Given the description of an element on the screen output the (x, y) to click on. 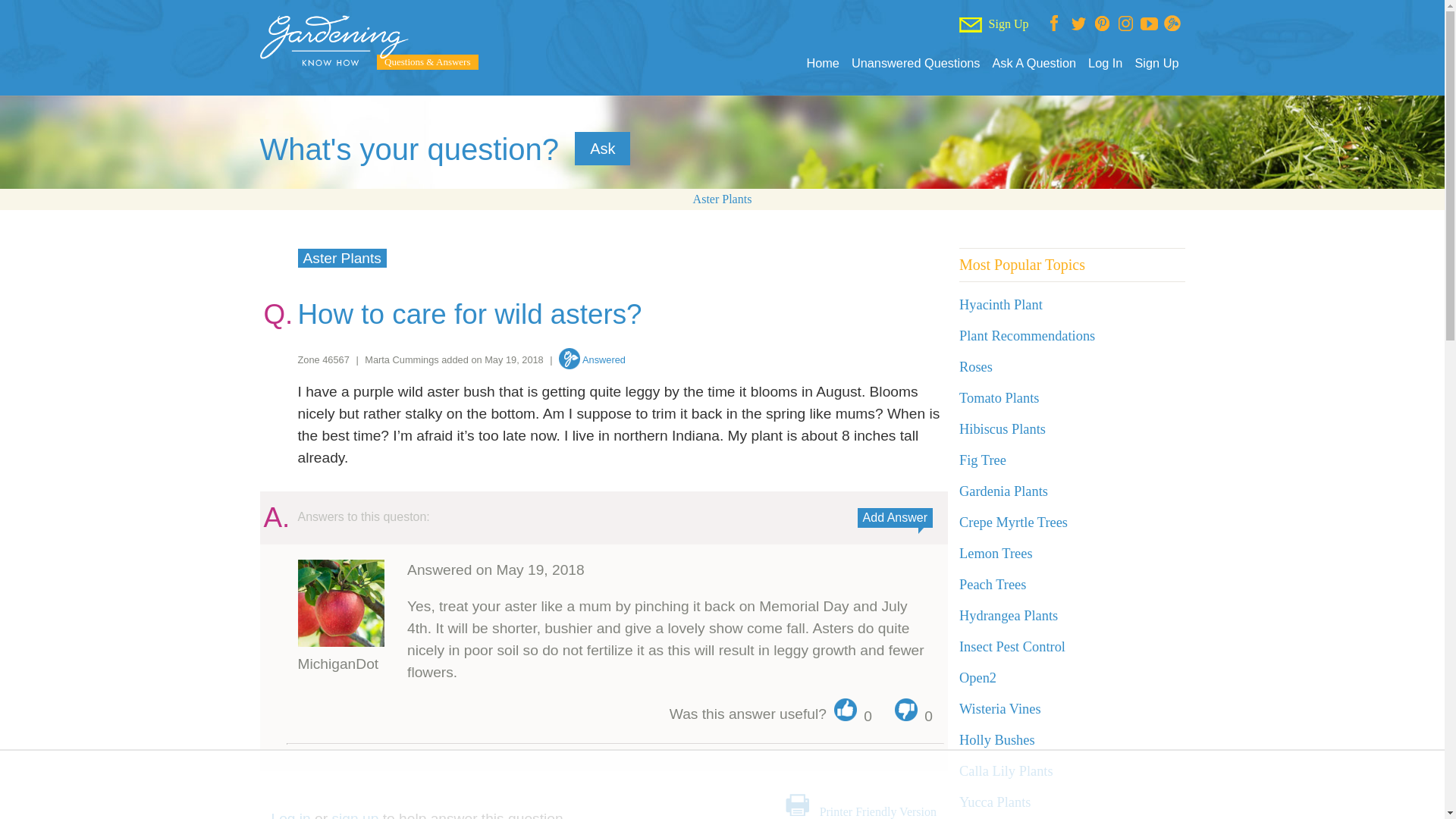
Ask (602, 148)
Printer Friendly Version (877, 811)
Gardenia Plants (1003, 491)
Hydrangea Plants (1008, 615)
Crepe Myrtle Trees (1013, 522)
Roses (975, 366)
Answered (592, 359)
Tomato Plants (999, 397)
Sign Up (1156, 62)
Peach Trees (992, 584)
Lemon Trees (995, 553)
Home (822, 62)
Printer Friendly Version (877, 811)
Aster Plants (341, 257)
Hydrangea Plants (1008, 615)
